Given the description of an element on the screen output the (x, y) to click on. 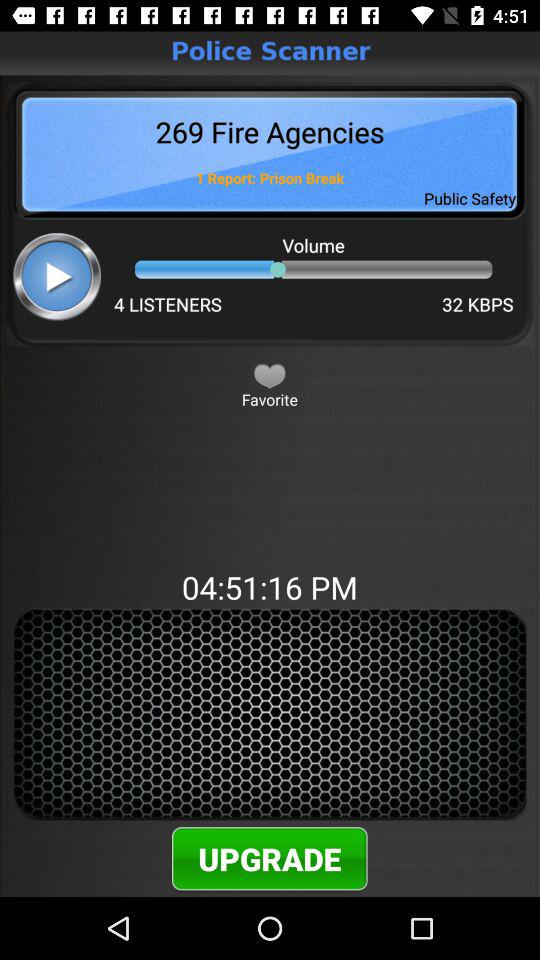
click the app above the favorite item (269, 375)
